Given the description of an element on the screen output the (x, y) to click on. 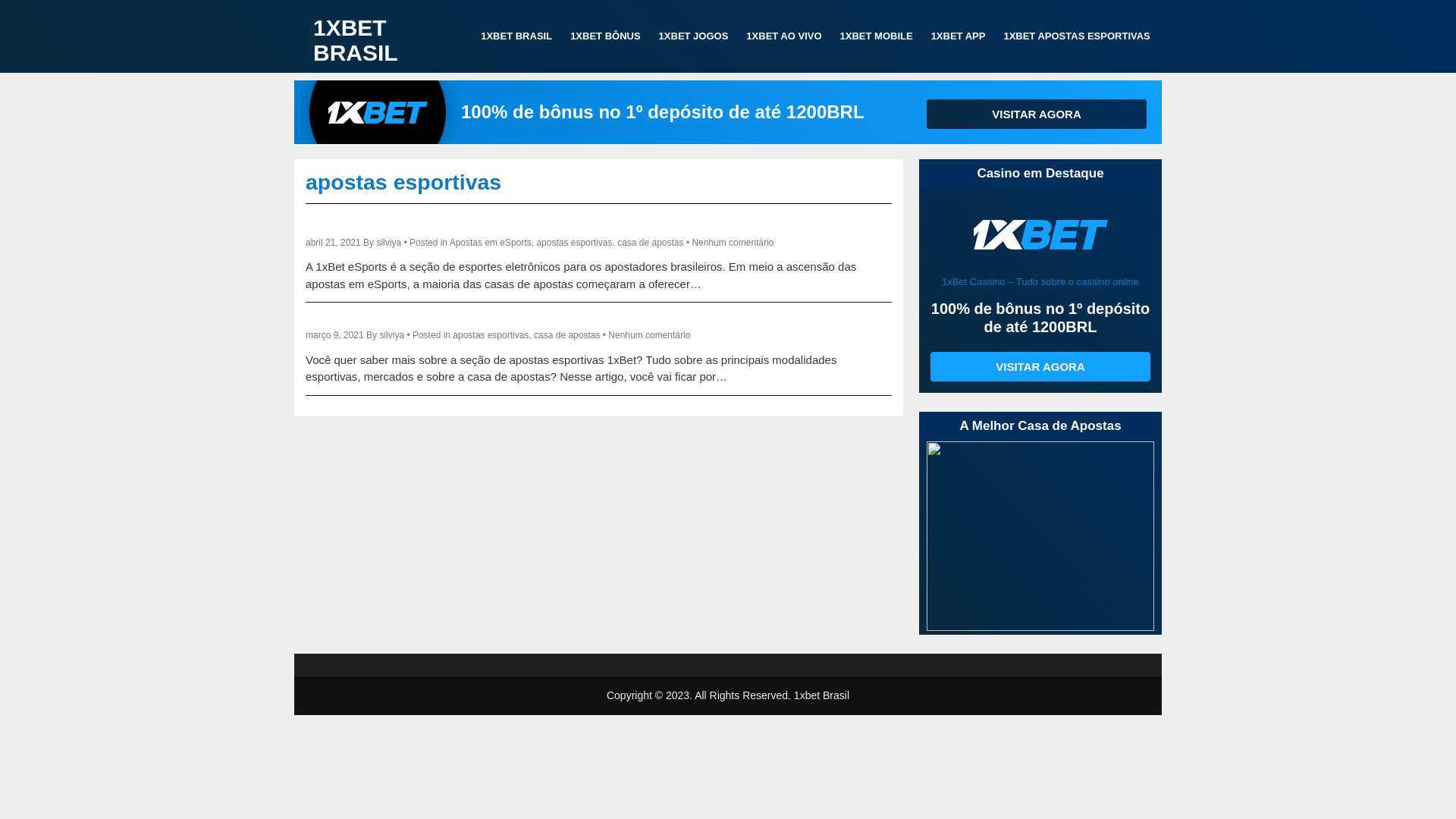
1XBET AO VIVO Element type: text (783, 35)
apostas esportivas Element type: text (573, 242)
silviya Element type: text (391, 334)
1XBET JOGOS Element type: text (693, 35)
VISITAR AGORA Element type: text (1040, 366)
silviya Element type: text (388, 242)
1XBET APOSTAS ESPORTIVAS Element type: text (1076, 35)
Apostas em eSports Element type: text (490, 242)
1XBET BRASIL Element type: text (355, 40)
1XBET BRASIL Element type: text (516, 35)
1XBET Element type: hover (1040, 535)
apostas esportivas Element type: text (490, 334)
VISITAR AGORA Element type: text (1036, 113)
1XBET APP Element type: text (958, 35)
1xbet Brasil Element type: text (821, 695)
casa de apostas Element type: text (650, 242)
casa de apostas Element type: text (566, 334)
1XBET MOBILE Element type: text (876, 35)
